Given the description of an element on the screen output the (x, y) to click on. 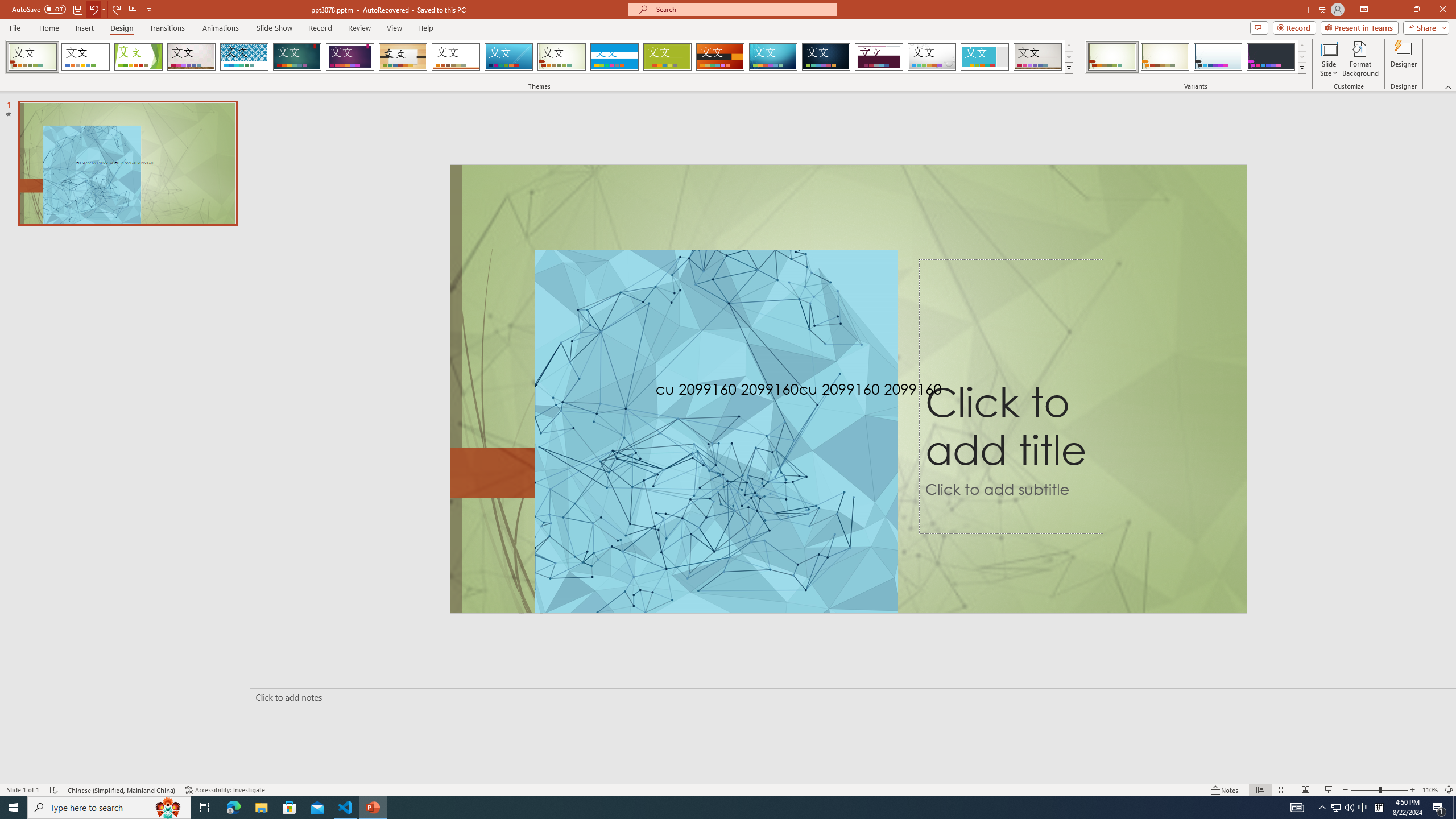
Retrospect (455, 56)
